Given the description of an element on the screen output the (x, y) to click on. 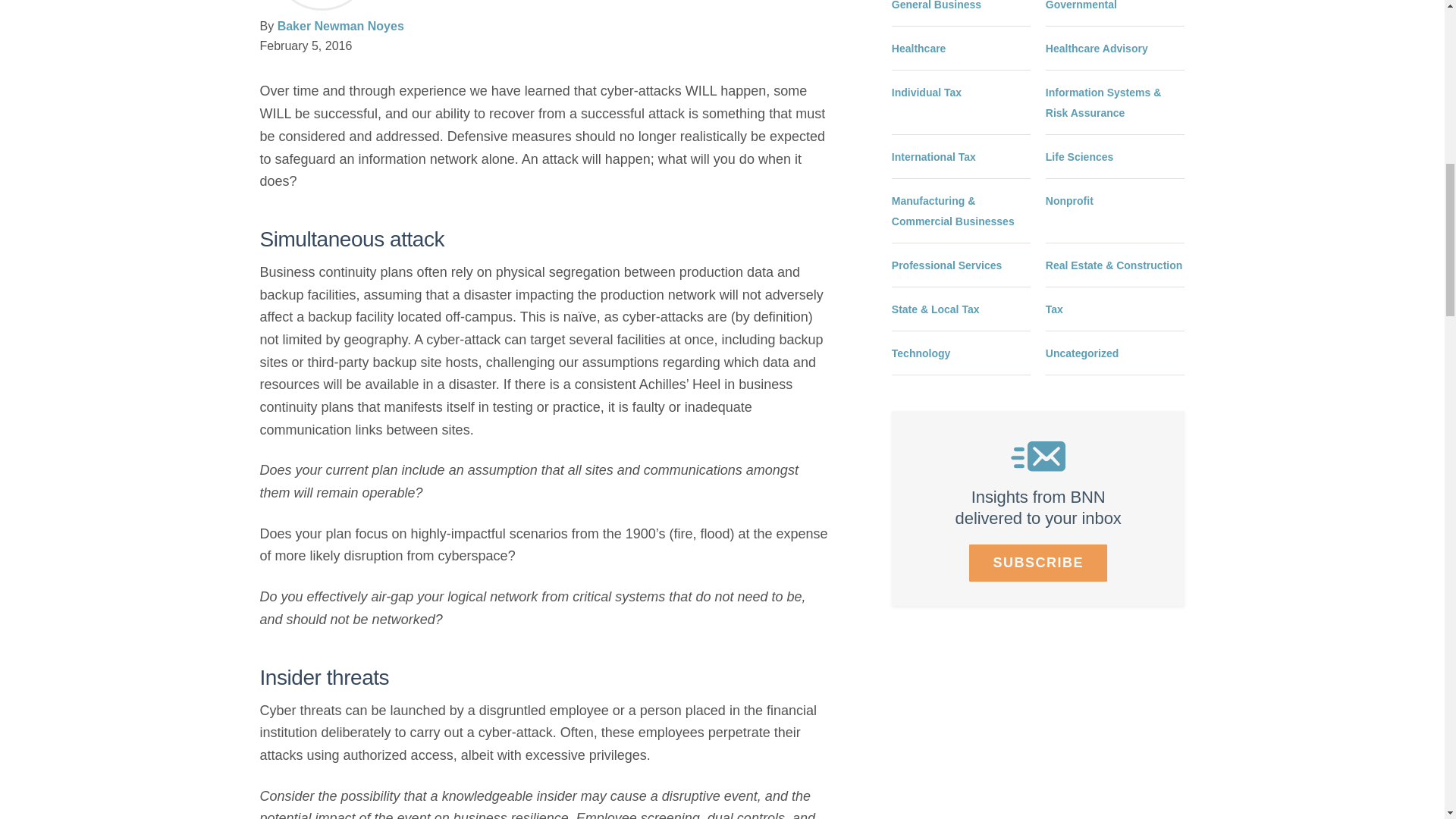
Baker Newman Noyes (341, 25)
